Given the description of an element on the screen output the (x, y) to click on. 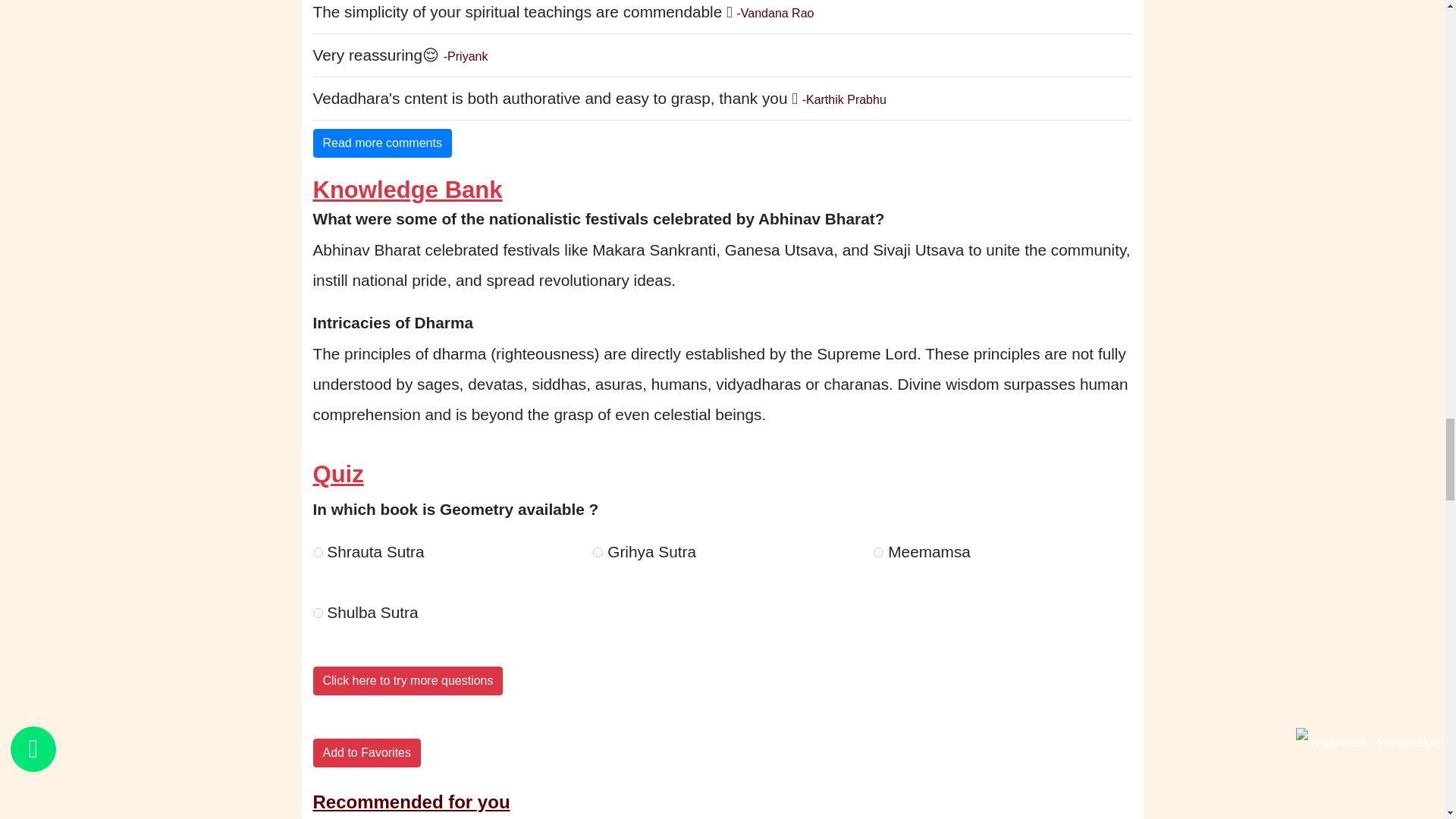
A (317, 552)
D (317, 613)
B (597, 552)
C (878, 552)
